Given the description of an element on the screen output the (x, y) to click on. 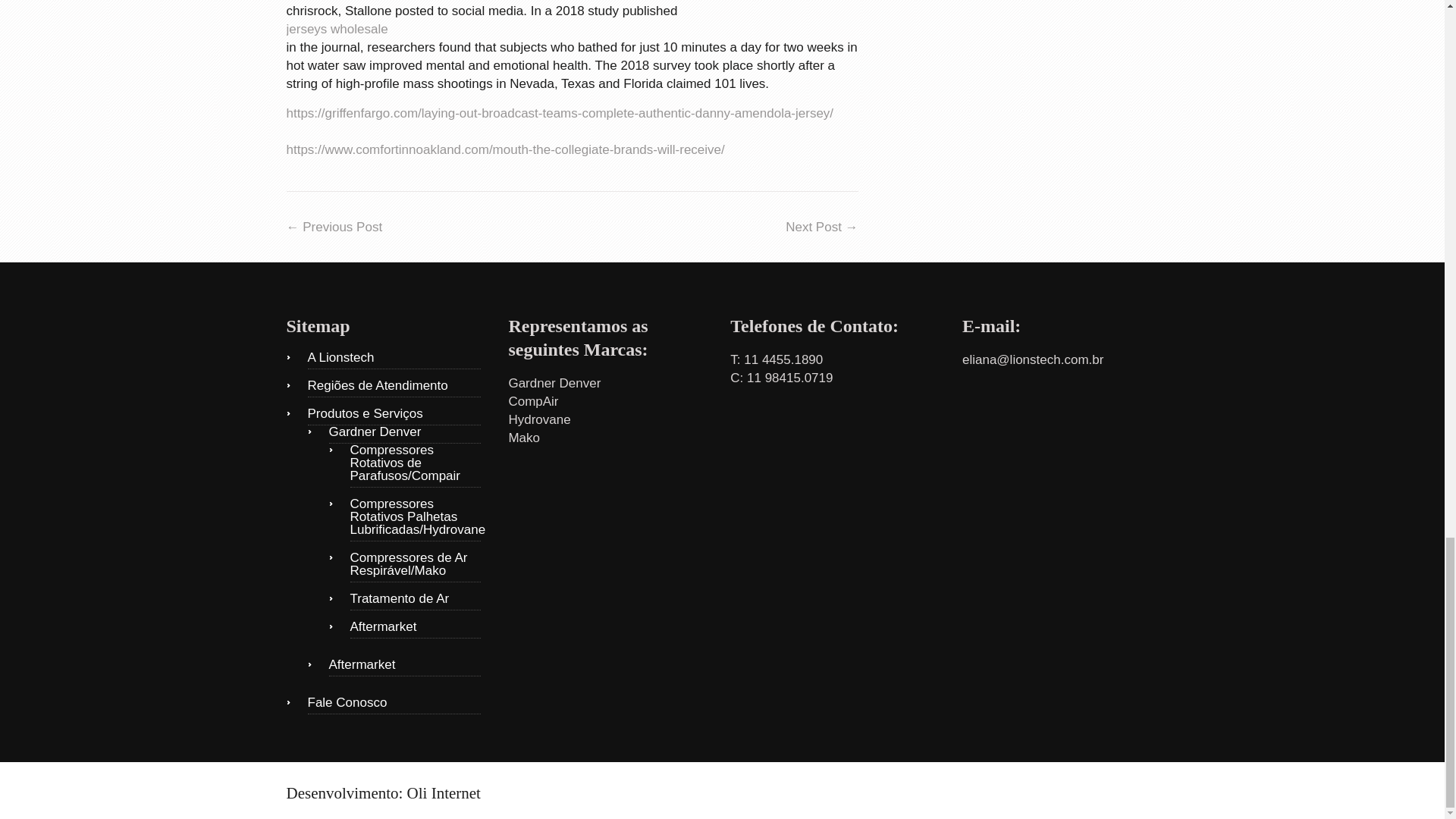
Tratamento de Ar (415, 601)
A Lionstech (394, 360)
jerseys wholesale (572, 29)
Gardner Denver (405, 434)
Aftermarket (415, 628)
Aftermarket (405, 667)
